Given the description of an element on the screen output the (x, y) to click on. 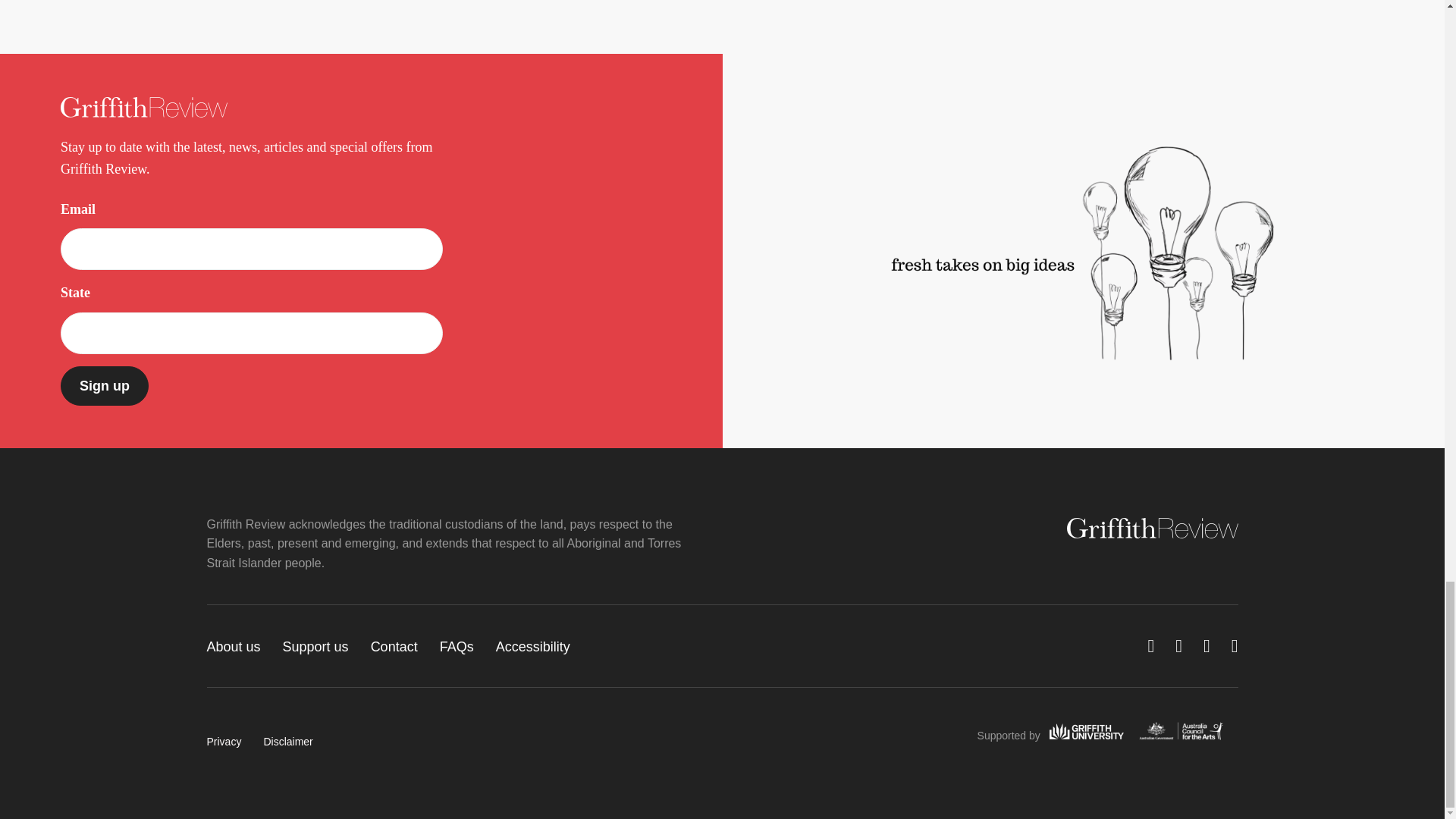
Sign up (104, 385)
griffith-review-white (1151, 528)
